Given the description of an element on the screen output the (x, y) to click on. 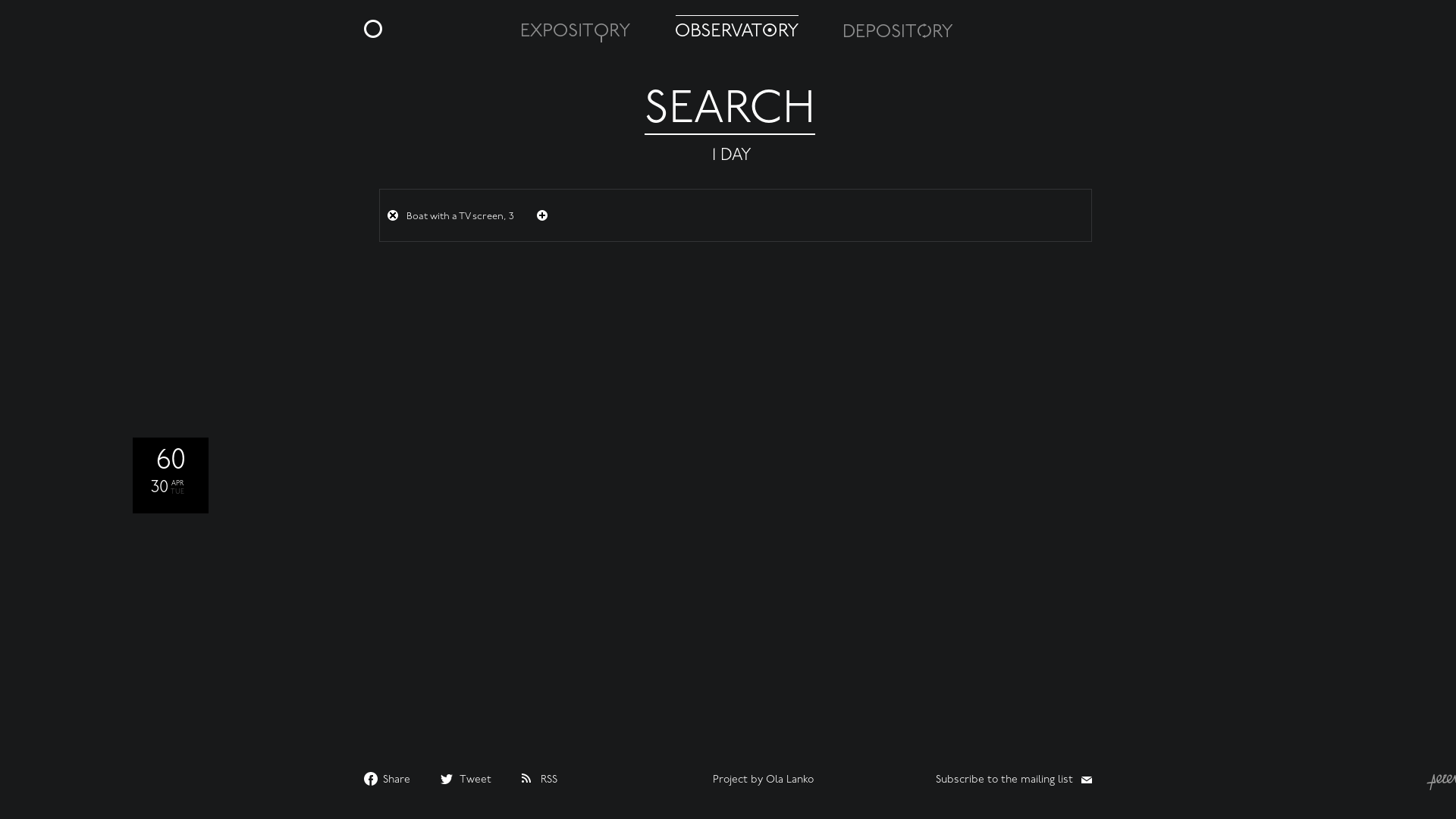
Subscribe to the mailing list Element type: text (1013, 780)
Tweet Element type: text (465, 778)
RSS Element type: text (539, 777)
60
30
APR
TUE Element type: text (162, 409)
Ola Lanko Element type: text (789, 779)
Share Element type: text (387, 778)
